Given the description of an element on the screen output the (x, y) to click on. 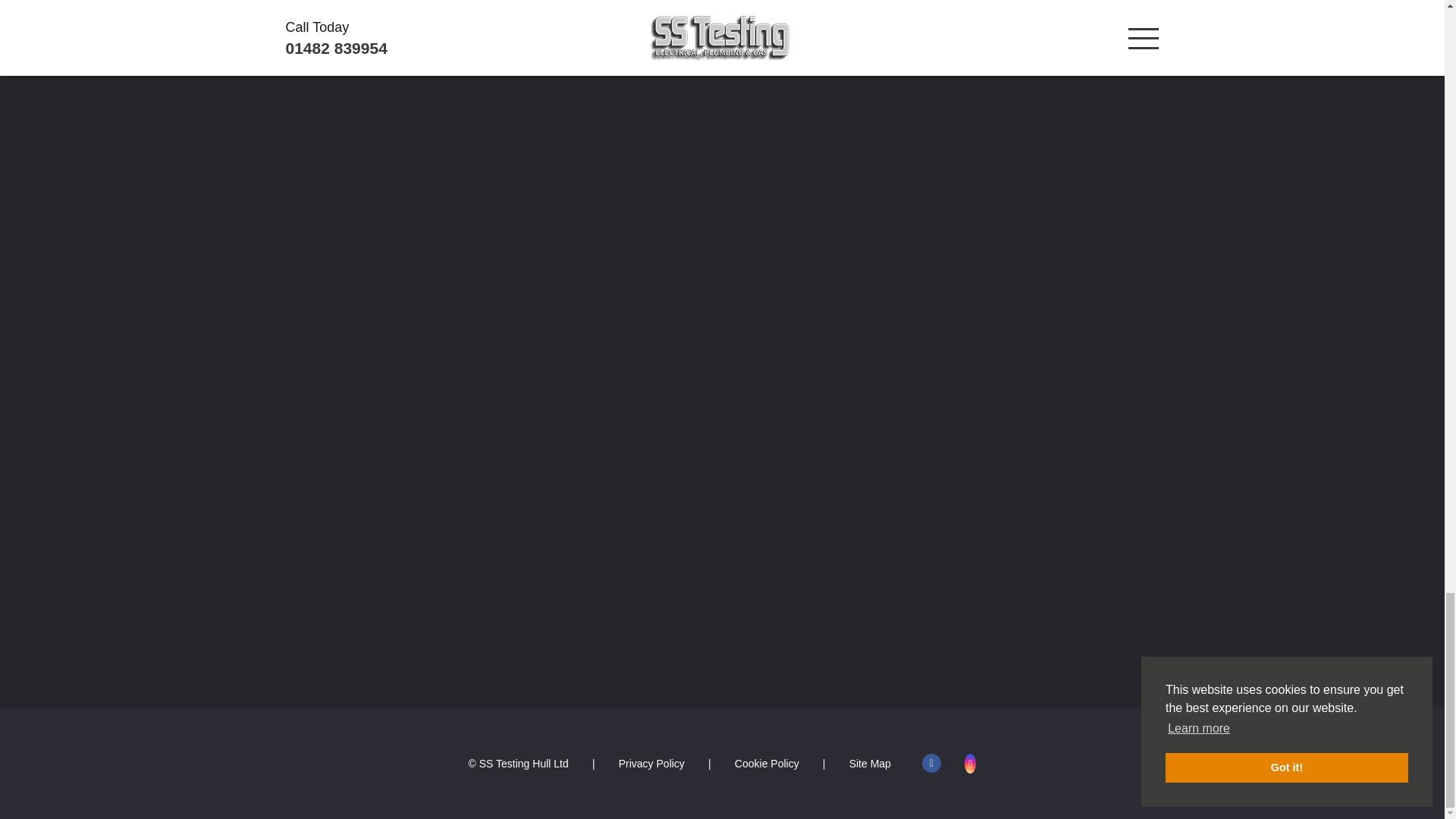
Privacy Policy (651, 763)
Site Map (869, 763)
Cookie Policy (767, 763)
